Given the description of an element on the screen output the (x, y) to click on. 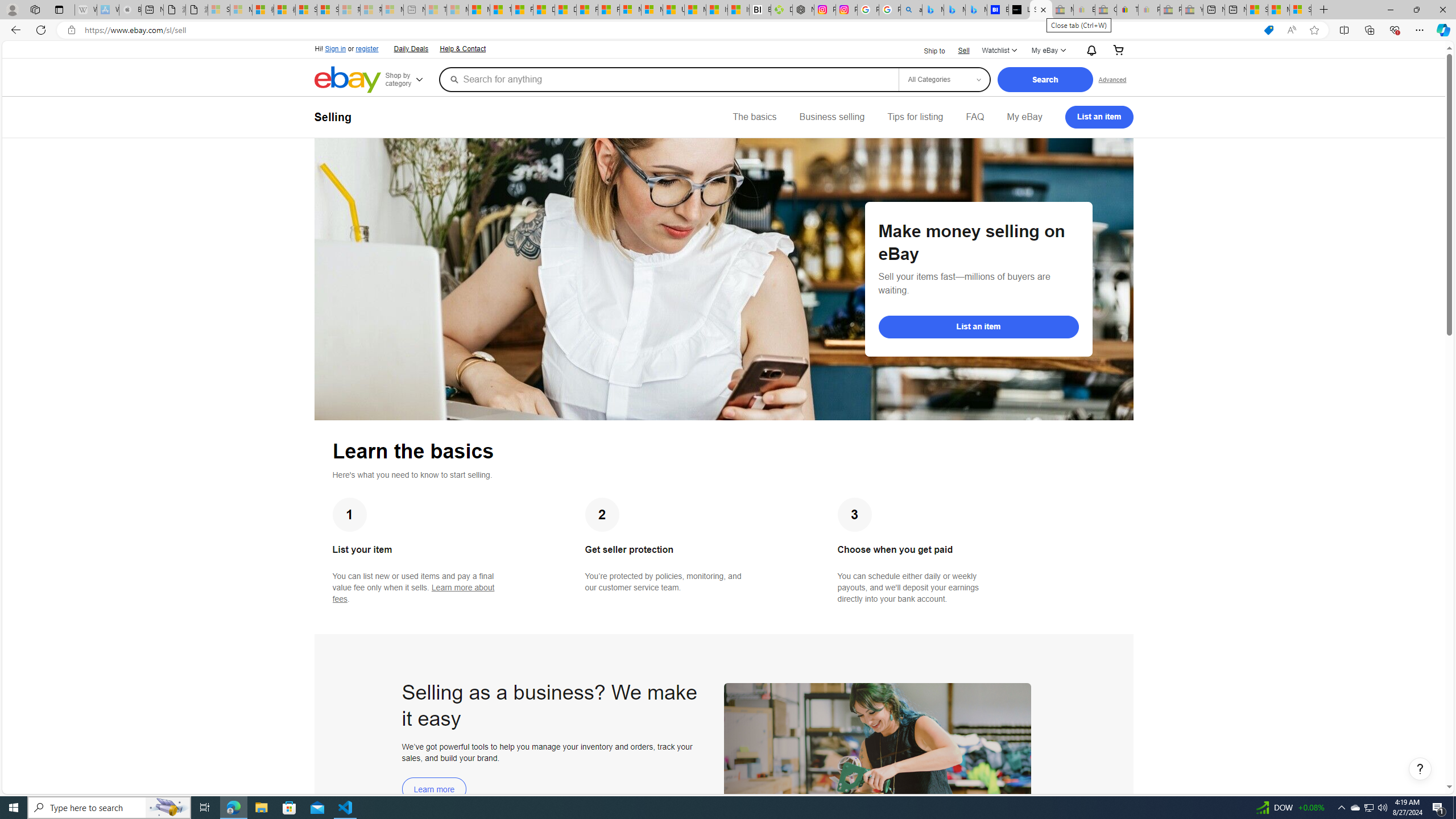
Help, opens dialogs (1420, 768)
Buy iPad - Apple - Sleeping (130, 9)
eBay Home (347, 79)
Threats and offensive language policy | eBay (1127, 9)
Nordace - Nordace Edin Collection (802, 9)
My eBay (1024, 116)
